Given the description of an element on the screen output the (x, y) to click on. 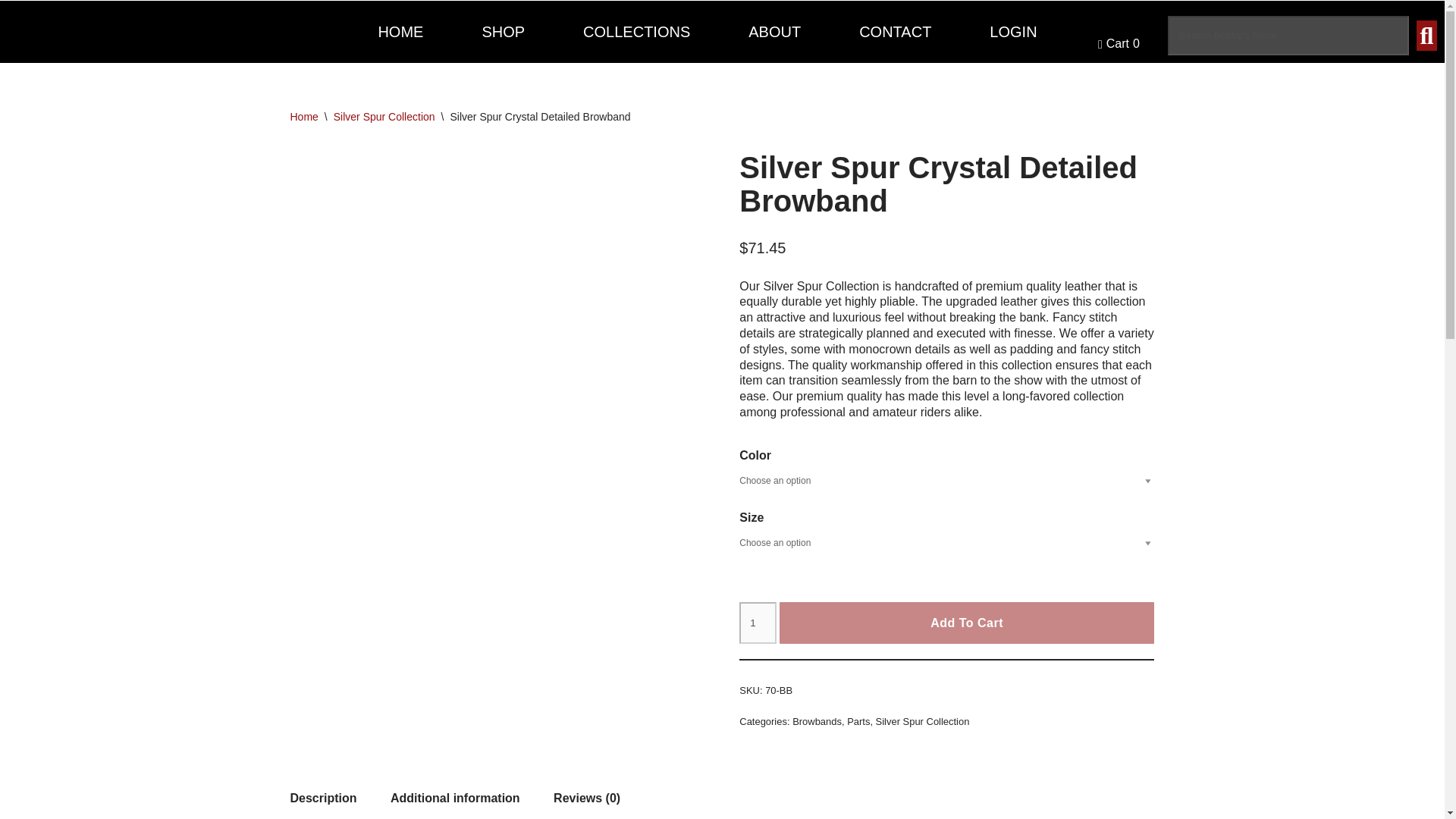
Silver Spur Collection (384, 116)
LOGIN (1013, 31)
ABOUT (774, 31)
Parts (858, 721)
Silver Spur Collection (922, 721)
View your shopping cart (1118, 44)
COLLECTIONS (636, 31)
Add To Cart (966, 622)
Browbands (816, 721)
